Given the description of an element on the screen output the (x, y) to click on. 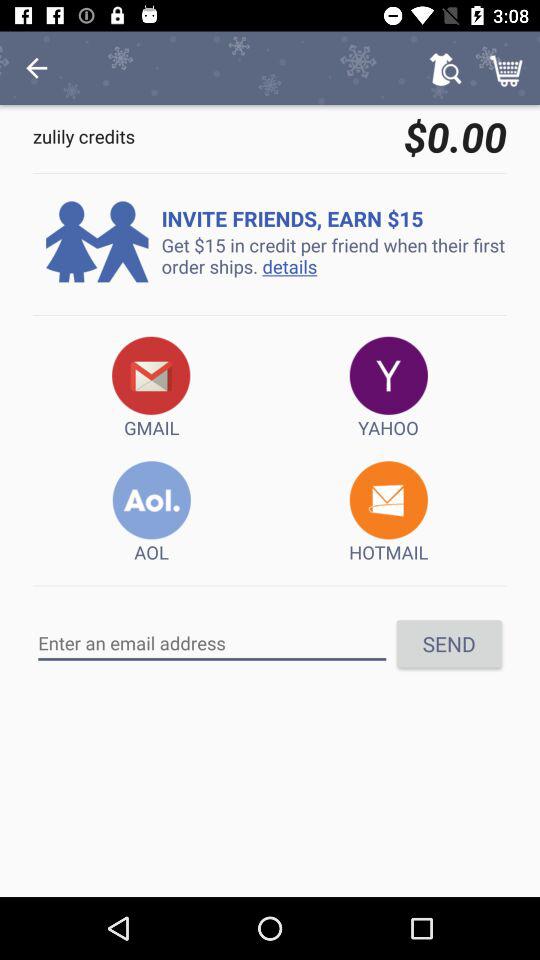
choose the item to the left of the hotmail (151, 512)
